Given the description of an element on the screen output the (x, y) to click on. 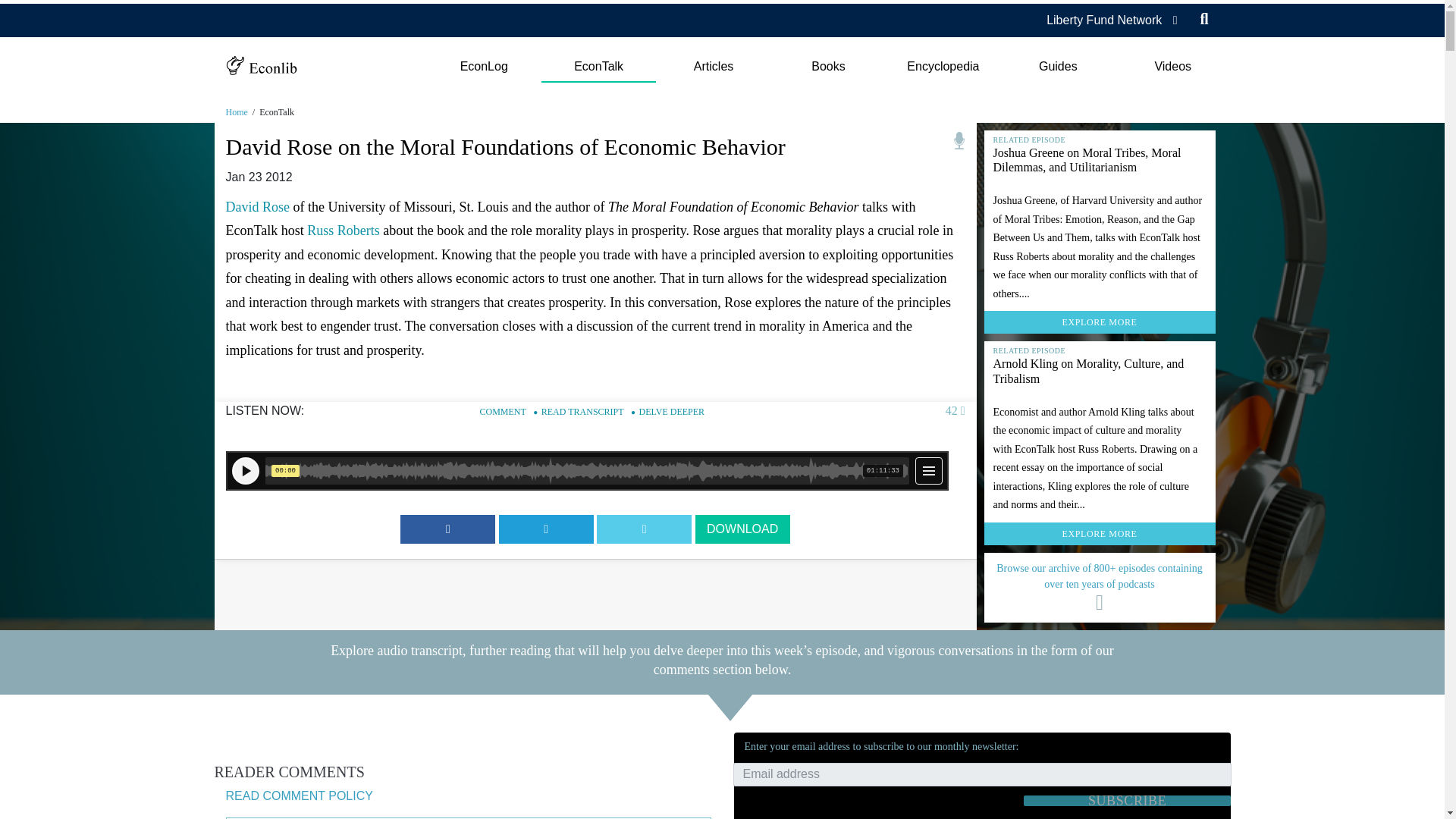
EconLog (483, 66)
Liberty Fund Network (1104, 20)
Books (828, 66)
EconTalk (598, 67)
Subscribe (1127, 800)
Articles (713, 66)
Encyclopedia (942, 66)
